Given the description of an element on the screen output the (x, y) to click on. 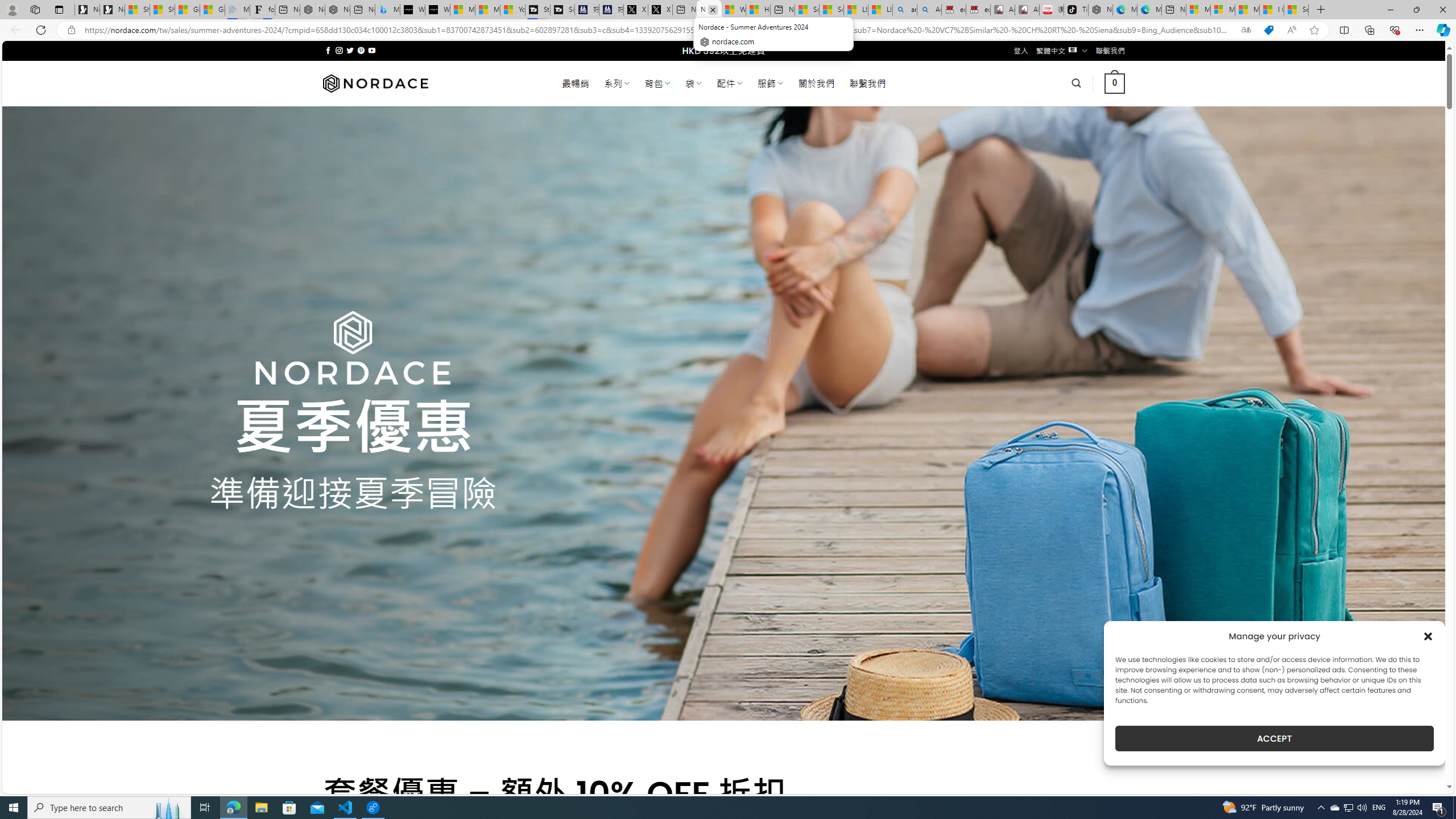
Amazon Echo Dot PNG - Search Images (929, 9)
Gilma and Hector both pose tropical trouble for Hawaii (212, 9)
Follow on Twitter (349, 50)
